Given the description of an element on the screen output the (x, y) to click on. 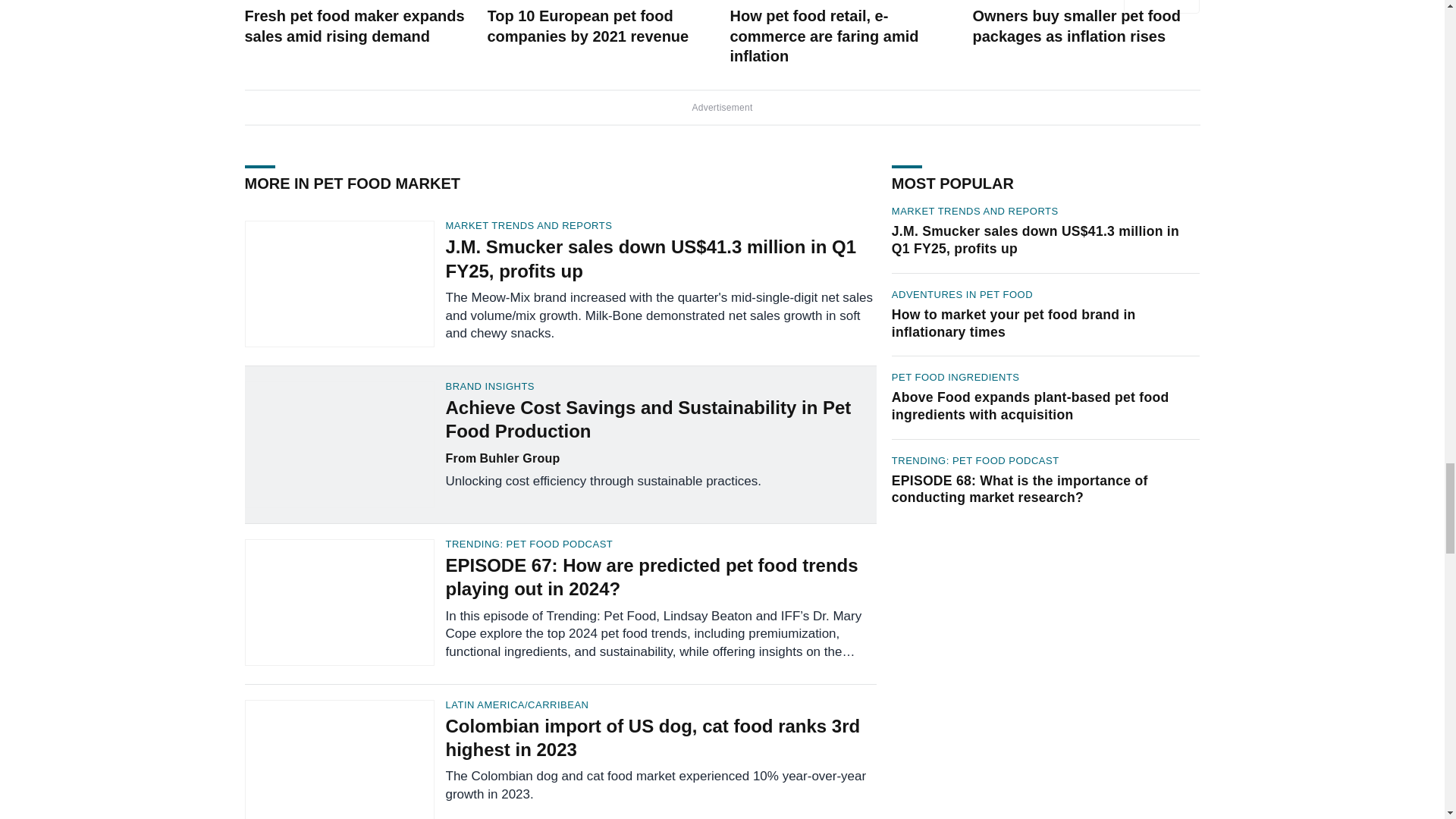
Pet Food Market (779, 0)
Brand Insights (660, 386)
Pet Food Market (1021, 0)
Pet Food Market (536, 0)
Pet Food Market (293, 0)
